Given the description of an element on the screen output the (x, y) to click on. 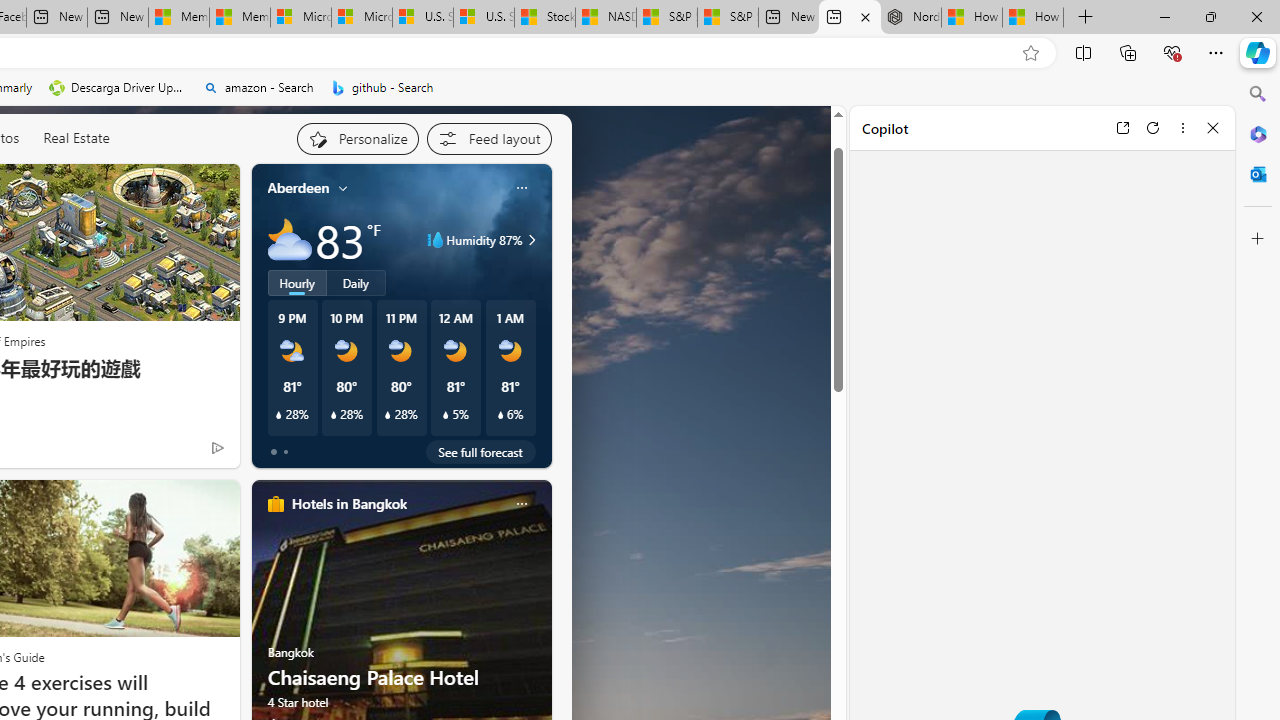
Real Estate (75, 138)
Humidity 87% (529, 240)
Open link in new tab (1122, 127)
Hotels in Bangkok (348, 503)
Hide this story (171, 187)
See full forecast (480, 451)
Personalize your feed" (356, 138)
